Given the description of an element on the screen output the (x, y) to click on. 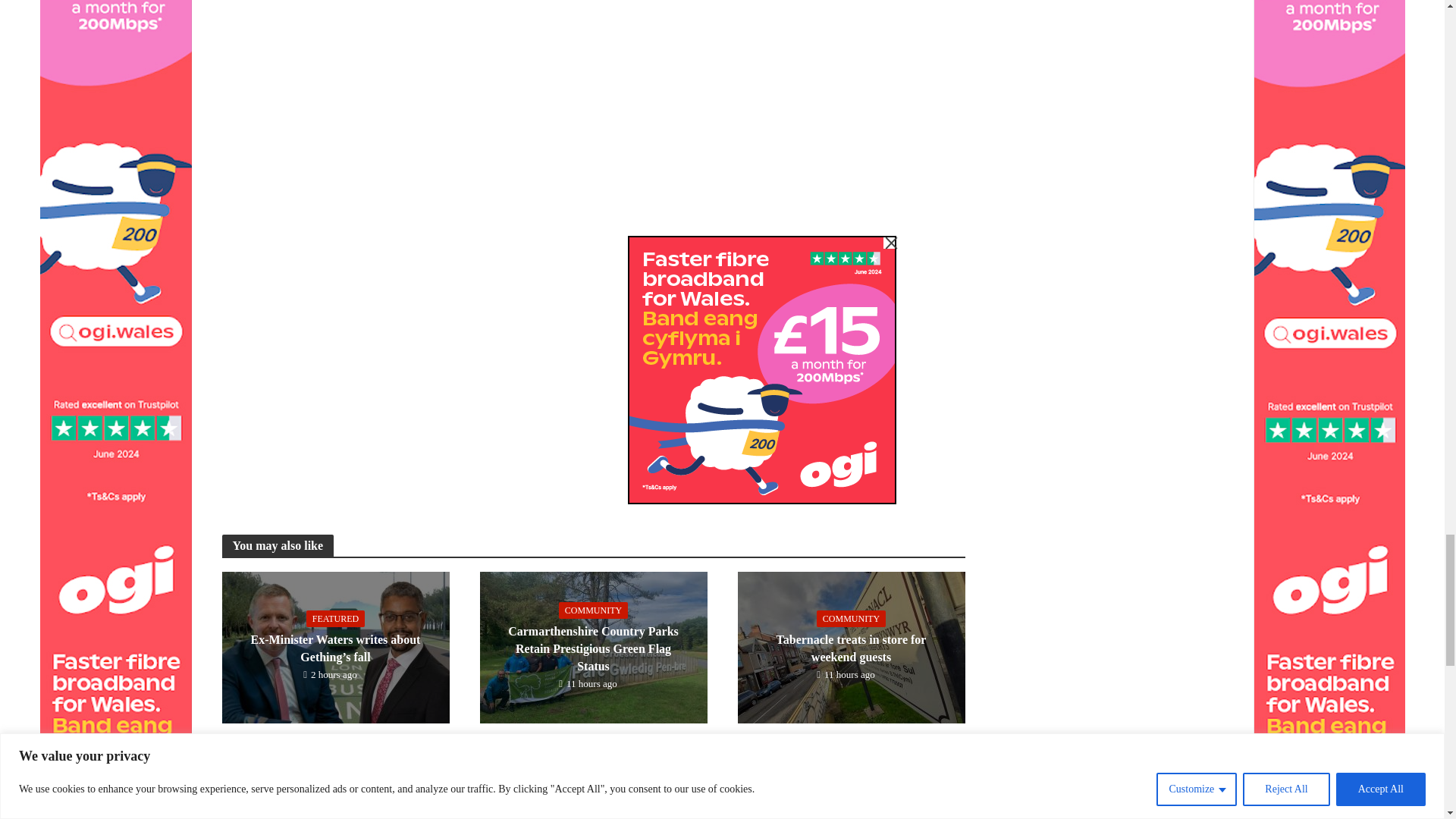
Tabernacle treats in store for weekend guests (849, 645)
